Given the description of an element on the screen output the (x, y) to click on. 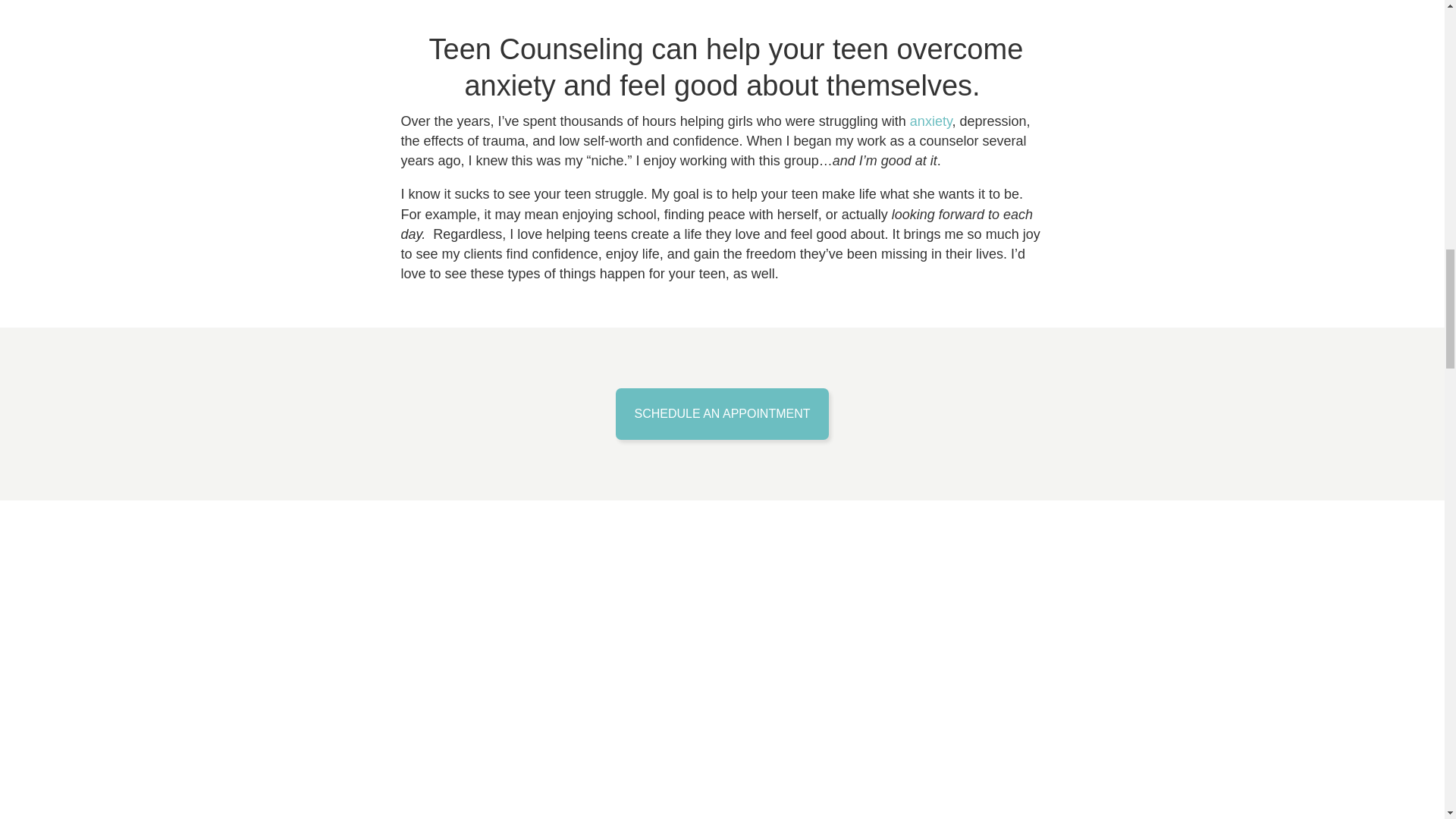
anxiety (931, 120)
SCHEDULE AN APPOINTMENT (721, 413)
